Given the description of an element on the screen output the (x, y) to click on. 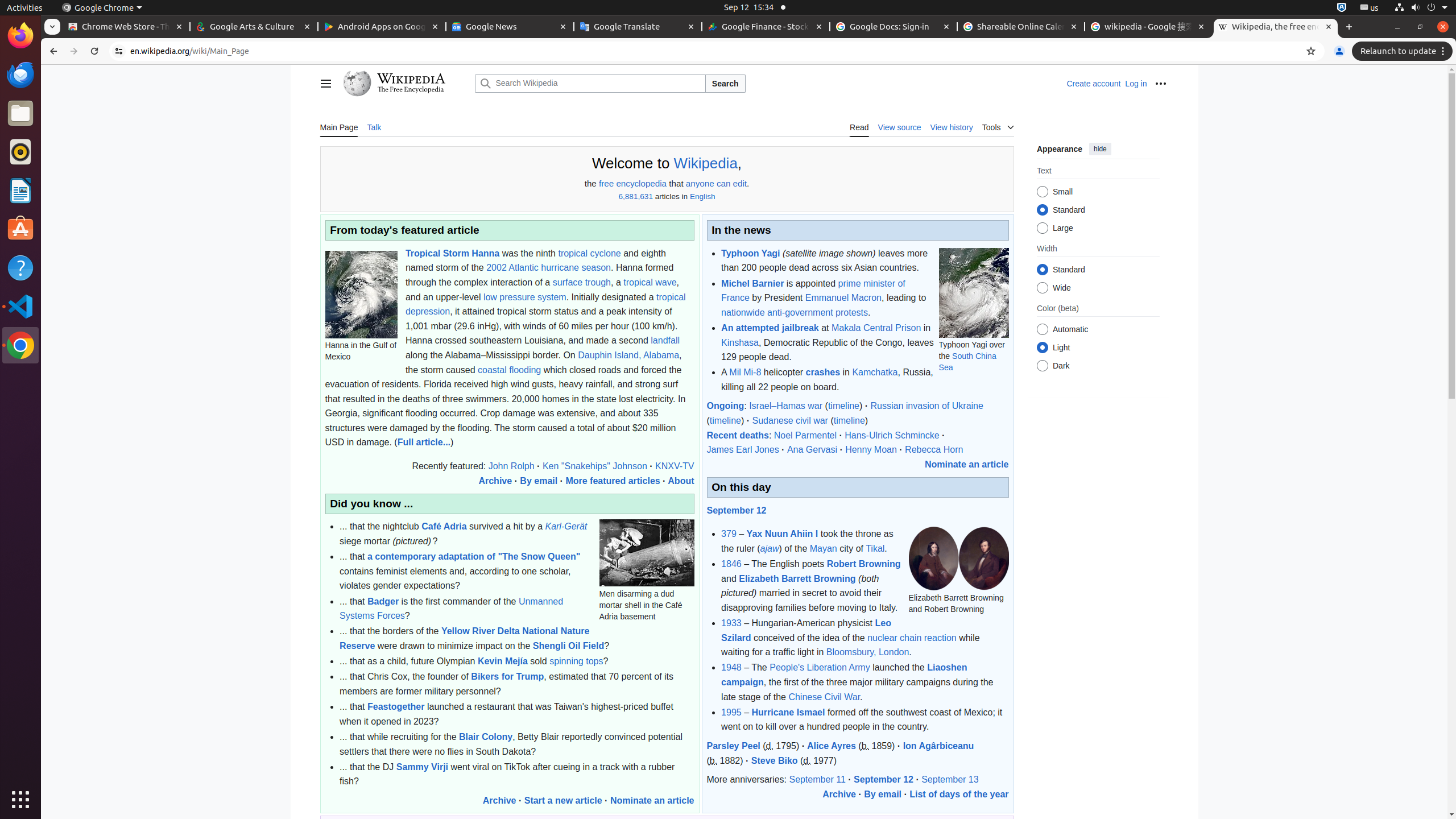
1933 Element type: link (731, 623)
a contemporary adaptation of "The Snow Queen" Element type: link (473, 556)
September 12 Element type: link (736, 510)
Back Element type: push-button (51, 50)
Google Chrome Element type: menu (101, 7)
